Given the description of an element on the screen output the (x, y) to click on. 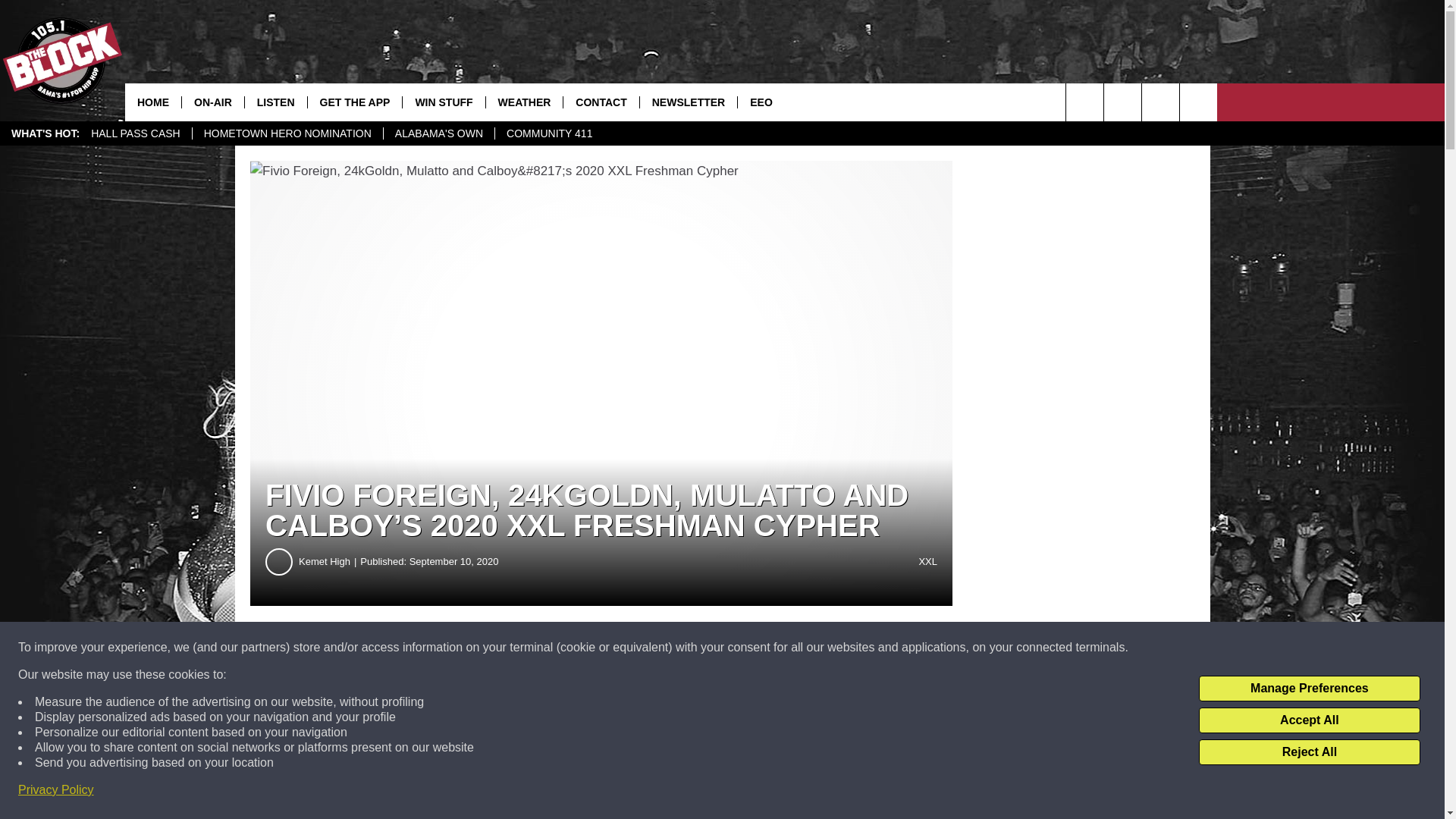
Share on Twitter (741, 647)
WEATHER (523, 102)
CONTACT (600, 102)
Privacy Policy (55, 789)
HALL PASS CASH (136, 133)
HOMETOWN HERO NOMINATION (287, 133)
WIN STUFF (442, 102)
GET THE APP (355, 102)
LISTEN (275, 102)
Accept All (1309, 720)
